Given the description of an element on the screen output the (x, y) to click on. 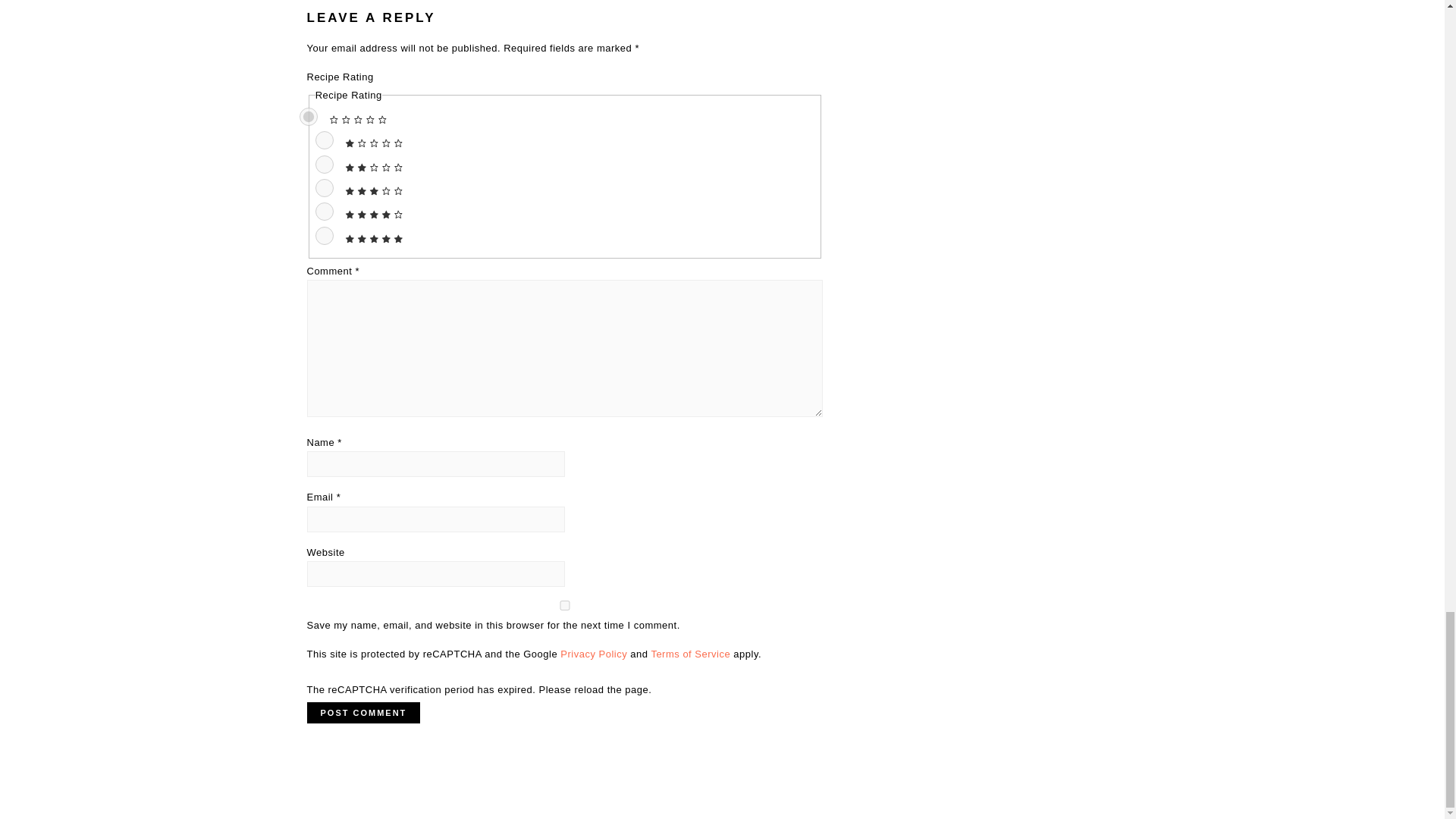
Privacy Policy (593, 654)
1 (324, 140)
0 (308, 116)
4 (324, 211)
Terms of Service (690, 654)
yes (563, 605)
3 (324, 188)
5 (324, 235)
Post Comment (362, 712)
Post Comment (362, 712)
